Given the description of an element on the screen output the (x, y) to click on. 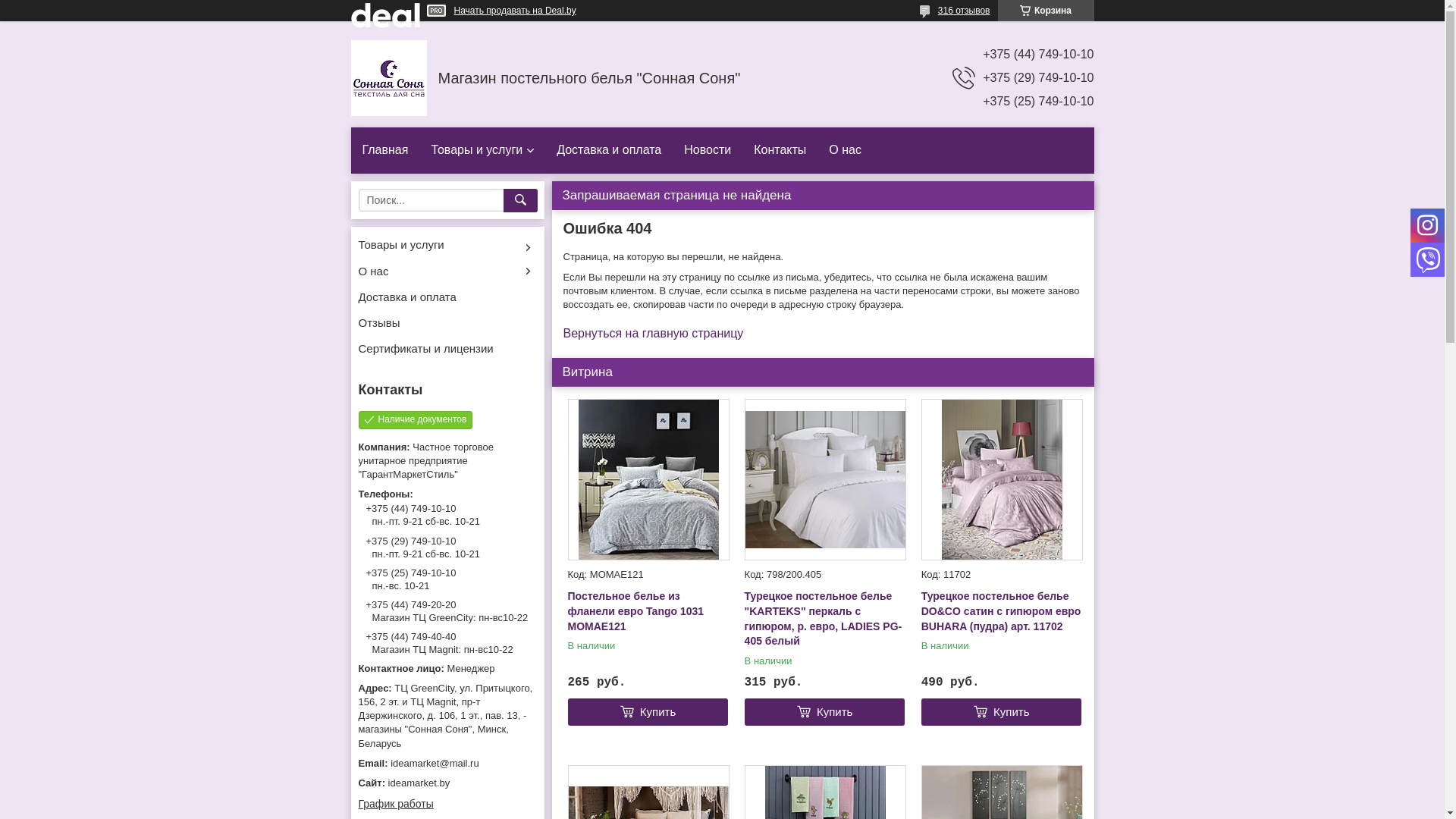
ideamarket@mail.ru Element type: text (446, 763)
ideamarket.by Element type: text (446, 783)
